Given the description of an element on the screen output the (x, y) to click on. 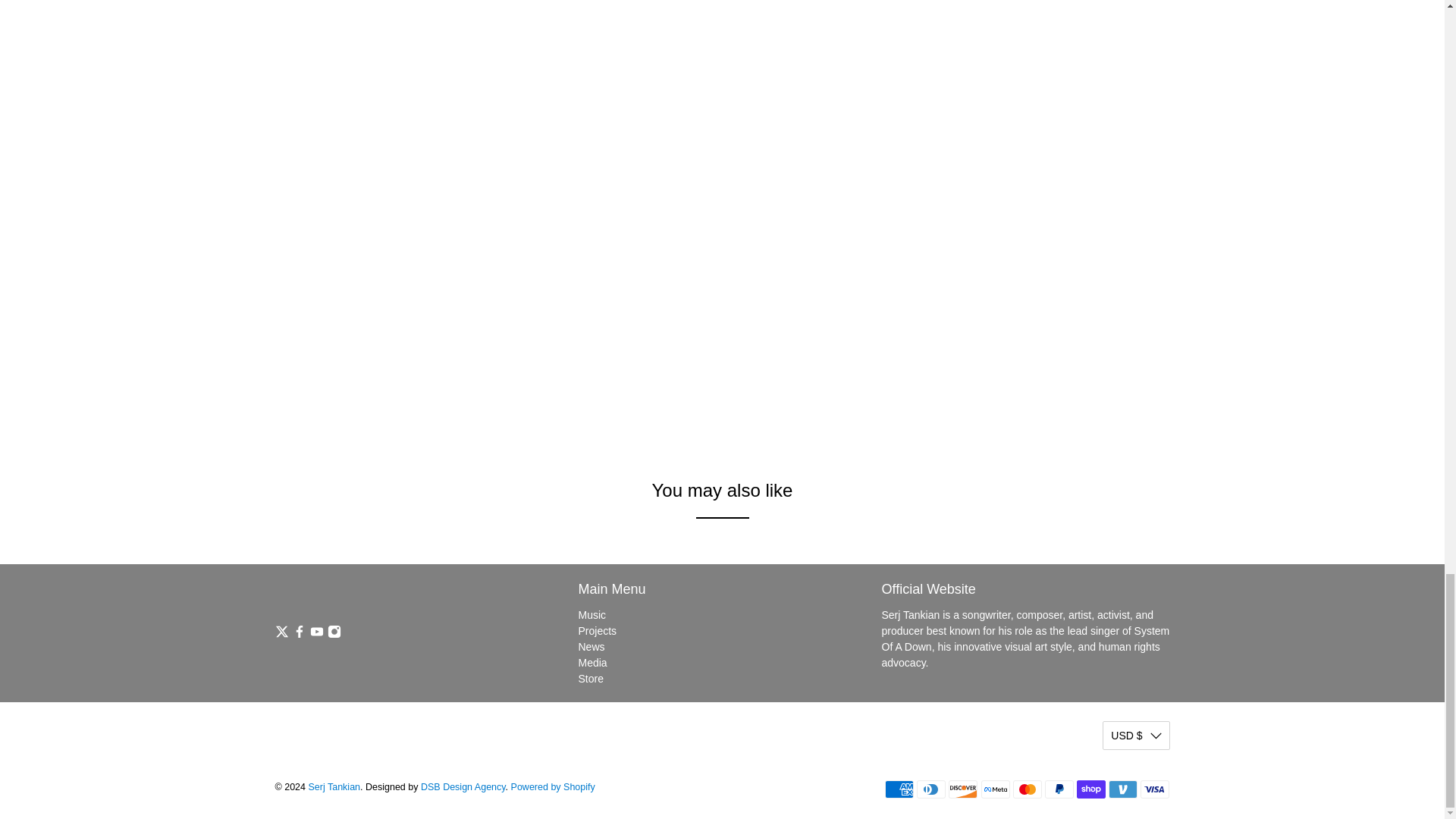
Serj Tankian (390, 594)
Serj Tankian on YouTube (315, 634)
Discover (962, 789)
Serj Tankian on Facebook (298, 634)
Serj Tankian on Twitter (281, 634)
American Express (899, 789)
Meta Pay (995, 789)
Serj Tankian on Instagram (333, 634)
Diners Club (930, 789)
Mastercard (1027, 789)
